Given the description of an element on the screen output the (x, y) to click on. 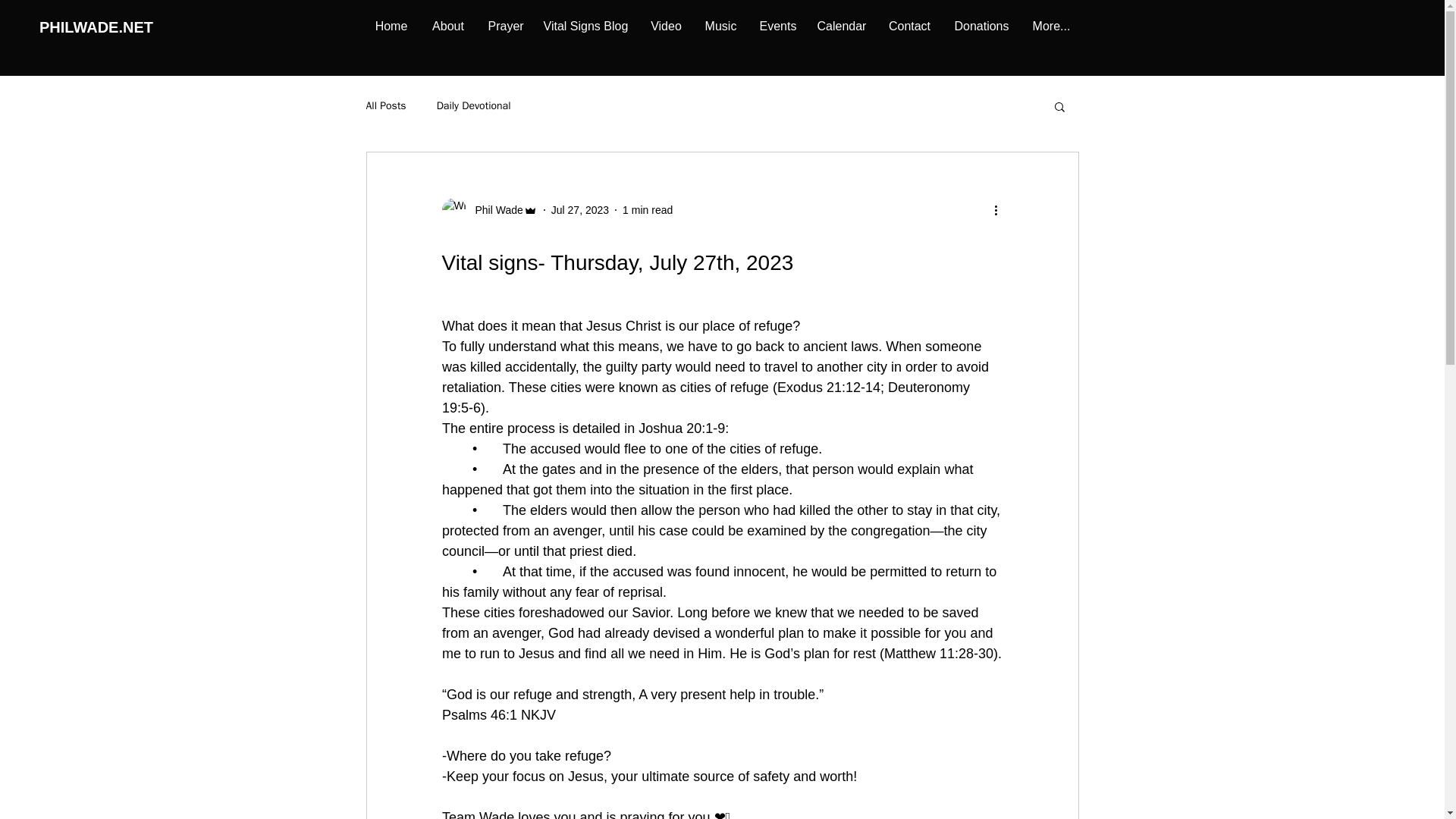
Events (776, 26)
Prayer (503, 26)
Phil Wade (493, 209)
Vital Signs Blog (585, 26)
Donations (981, 26)
Daily Devotional (473, 106)
Contact (909, 26)
Home (390, 26)
Music (720, 26)
Calendar (840, 26)
